Given the description of an element on the screen output the (x, y) to click on. 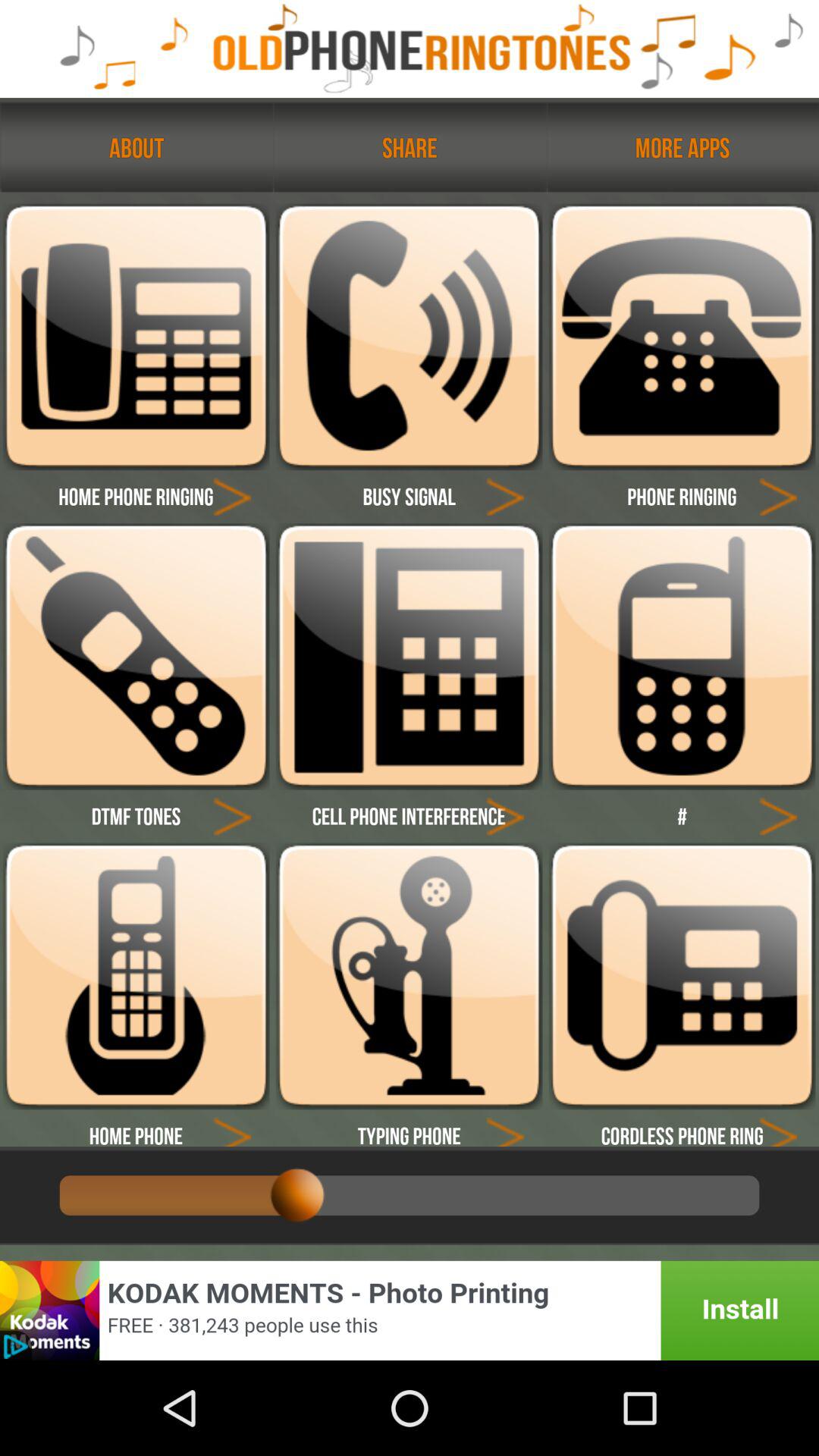
go next (778, 496)
